Given the description of an element on the screen output the (x, y) to click on. 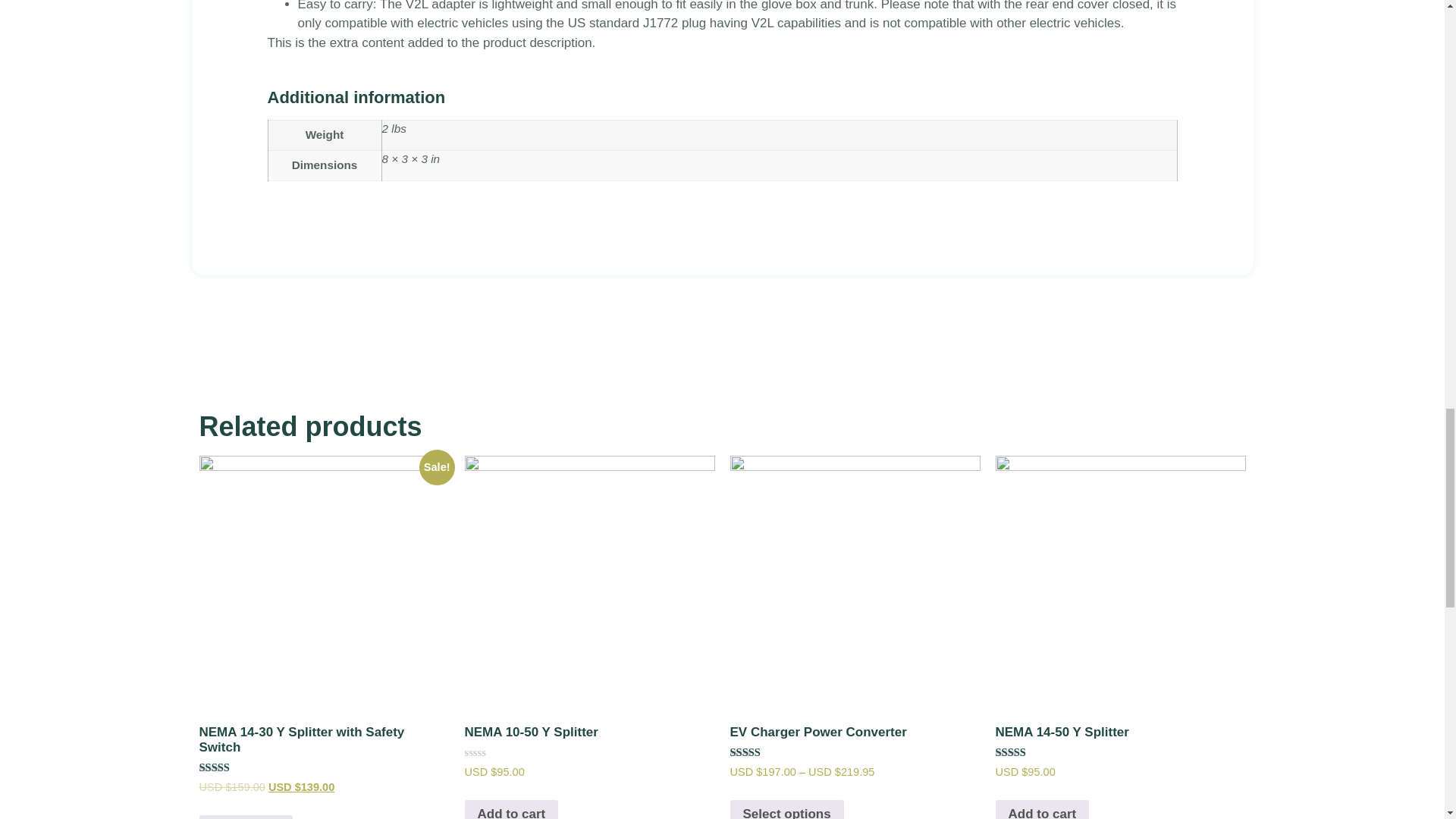
Add to cart (245, 816)
Add to cart (510, 809)
